Given the description of an element on the screen output the (x, y) to click on. 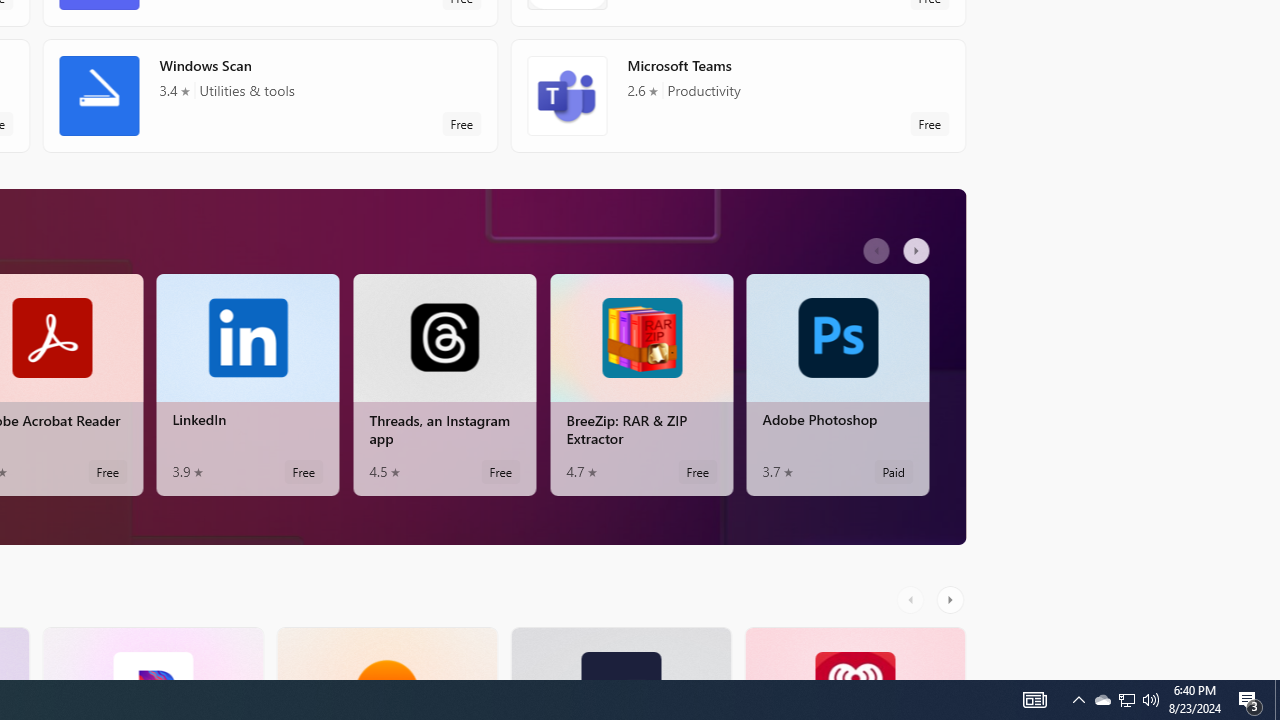
Pandora. Average rating of 4.5 out of five stars. Free   (152, 653)
AutomationID: RightScrollButton (952, 599)
AutomationID: LeftScrollButton (913, 599)
LinkedIn. Average rating of 3.9 out of five stars. Free   (247, 384)
